Given the description of an element on the screen output the (x, y) to click on. 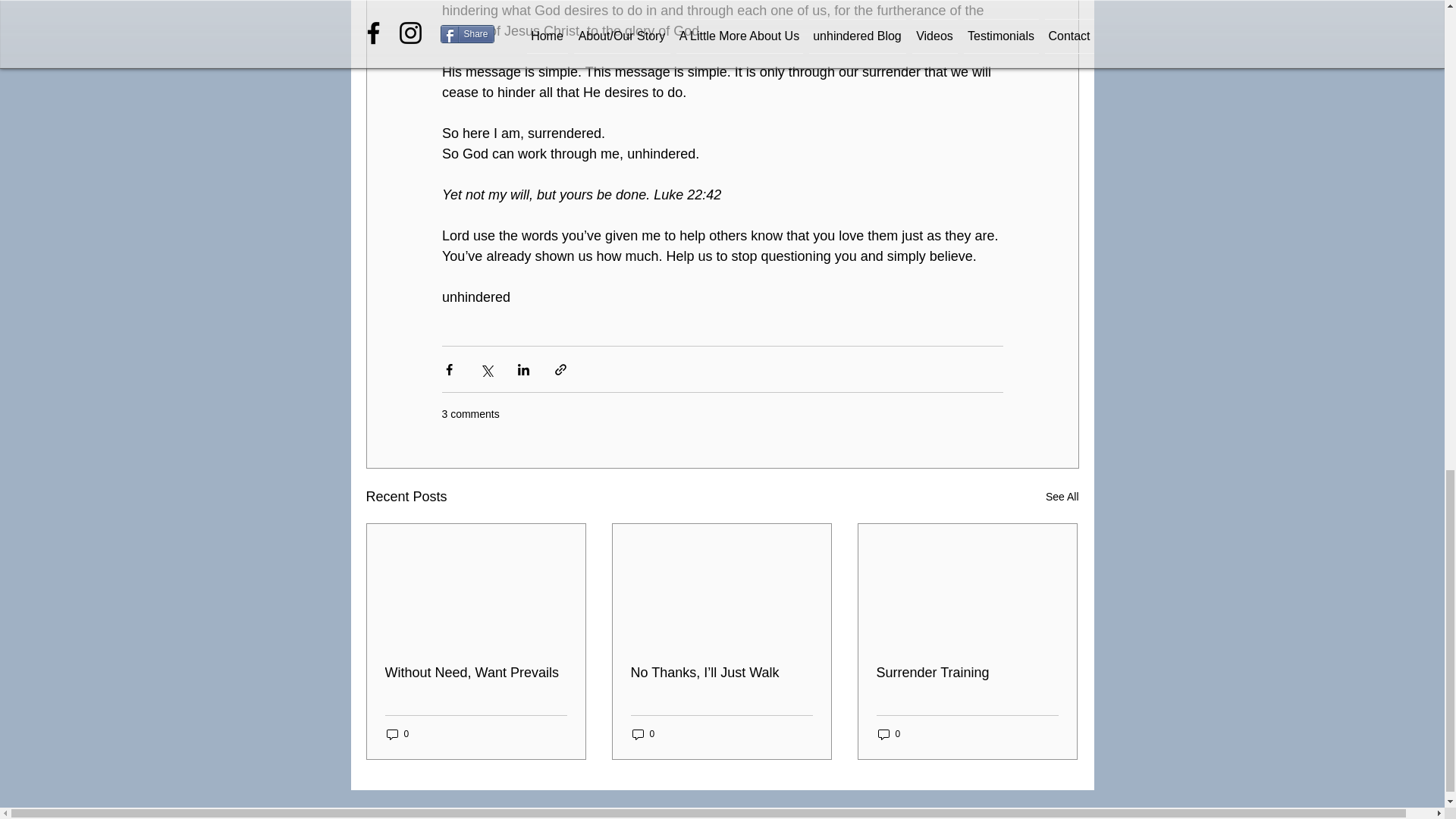
Without Need, Want Prevails (476, 672)
See All (1061, 496)
0 (397, 734)
0 (643, 734)
Surrender Training (967, 672)
0 (889, 734)
